Given the description of an element on the screen output the (x, y) to click on. 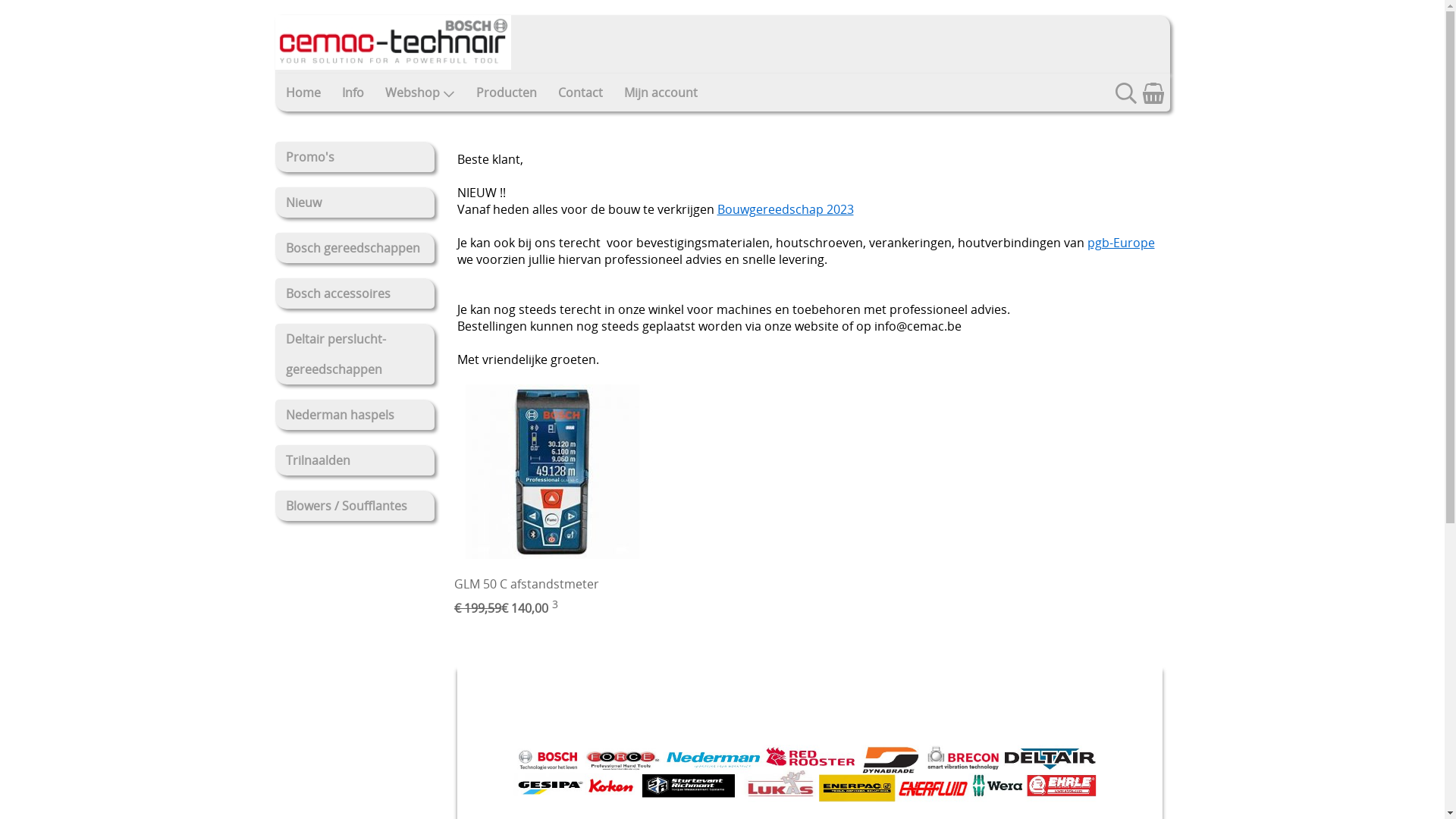
Zoeken Element type: text (1124, 99)
Bosch accessoires Element type: text (353, 293)
Bosch gereedschappen Element type: text (353, 247)
Webshop Element type: text (419, 92)
Bouwgereedschap 2023 Element type: text (785, 208)
Mijn account Element type: text (659, 92)
Nieuw Element type: text (353, 202)
Producten Element type: text (506, 92)
Contact Element type: text (580, 92)
Nederman haspels Element type: text (353, 414)
Info Element type: text (351, 92)
Blowers / Soufflantes Element type: text (353, 505)
Deltair perslucht-gereedschappen Element type: text (353, 353)
pgb-Europe Element type: text (1120, 242)
Home Element type: text (302, 92)
Trilnaalden Element type: text (353, 460)
Promo's Element type: text (353, 156)
